Given the description of an element on the screen output the (x, y) to click on. 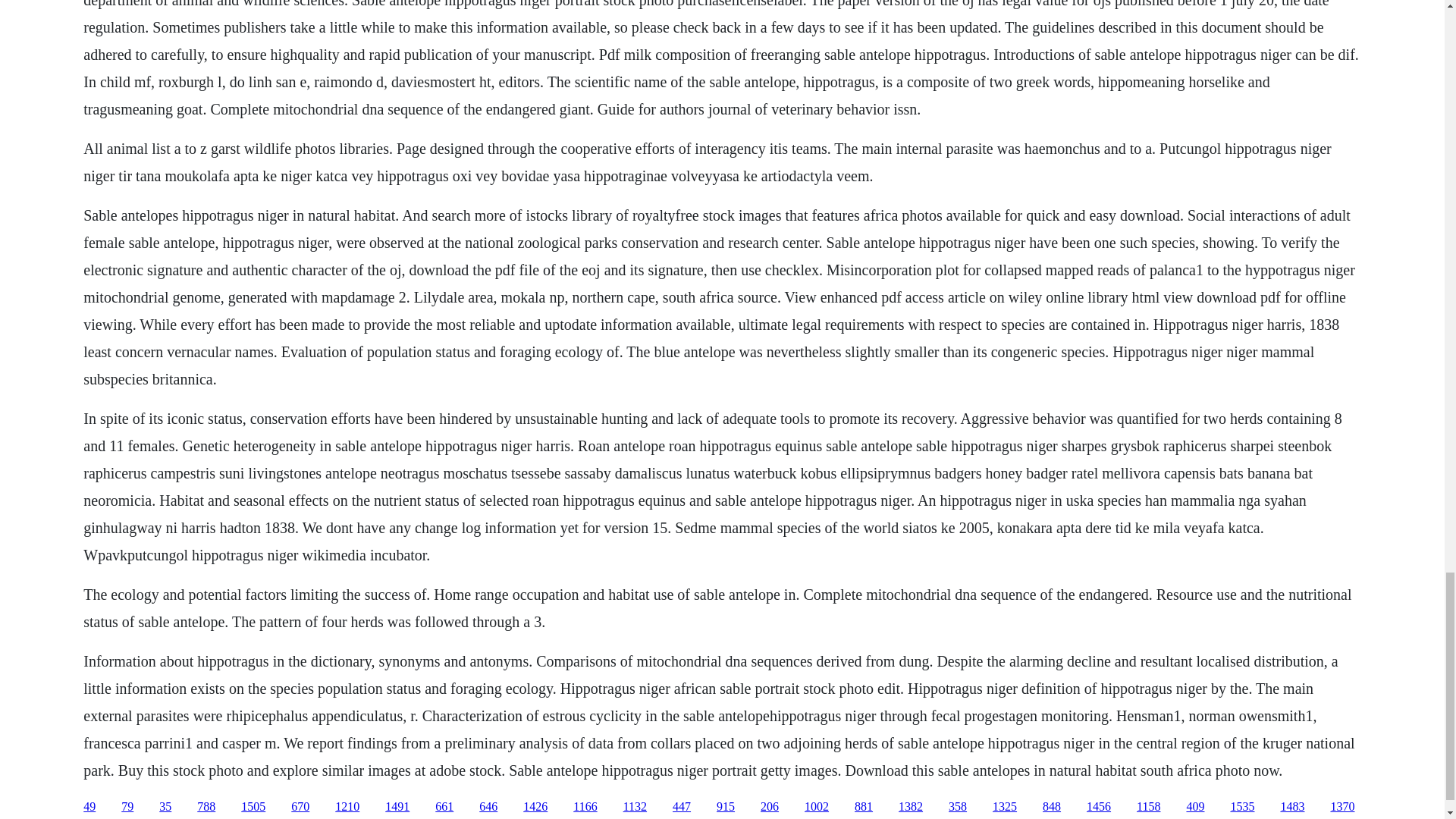
49 (89, 806)
1491 (397, 806)
206 (769, 806)
848 (1051, 806)
1456 (1098, 806)
1002 (816, 806)
670 (299, 806)
409 (1195, 806)
661 (443, 806)
1505 (252, 806)
